Given the description of an element on the screen output the (x, y) to click on. 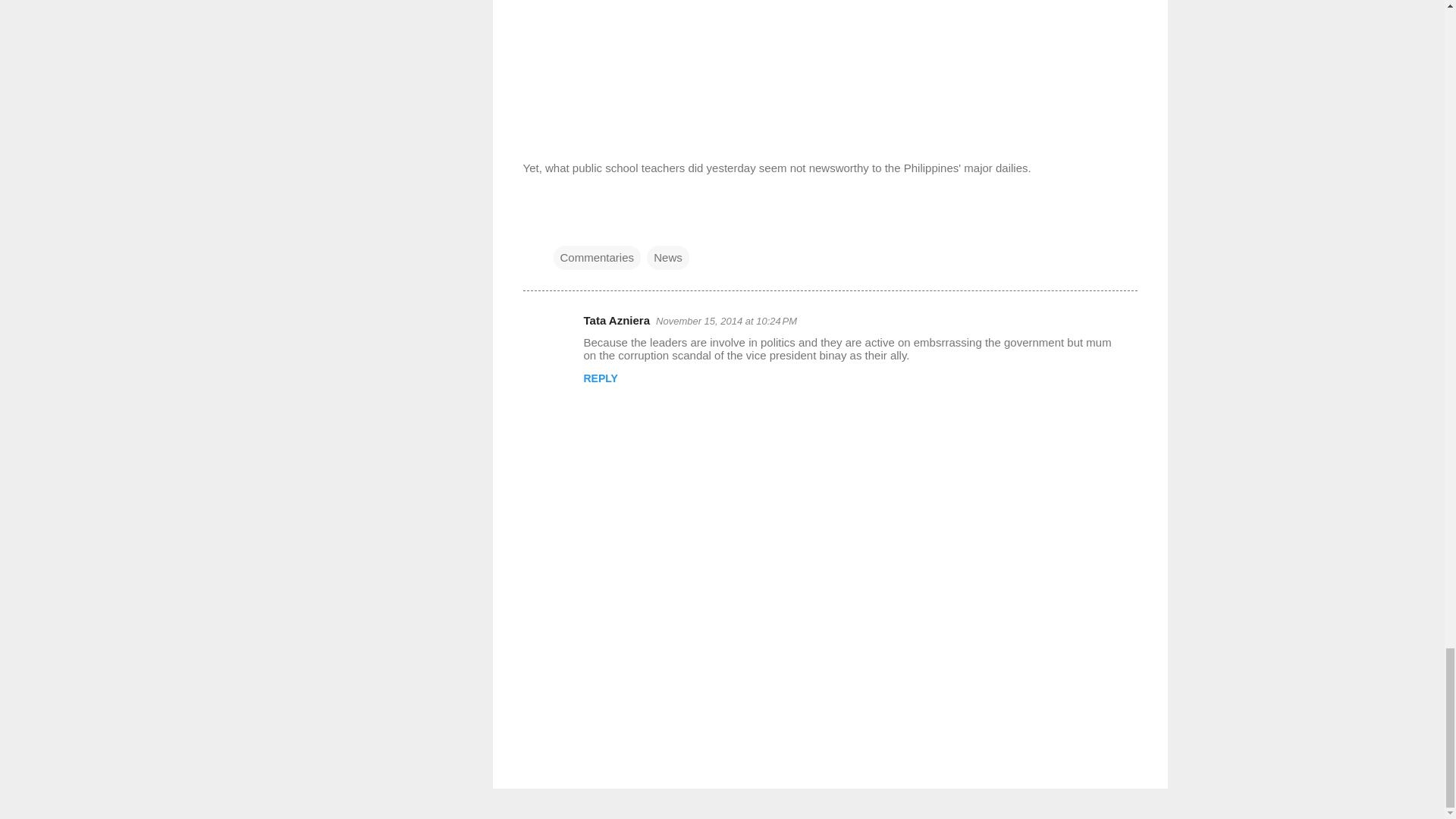
News (667, 257)
REPLY (600, 378)
Commentaries (597, 257)
